Given the description of an element on the screen output the (x, y) to click on. 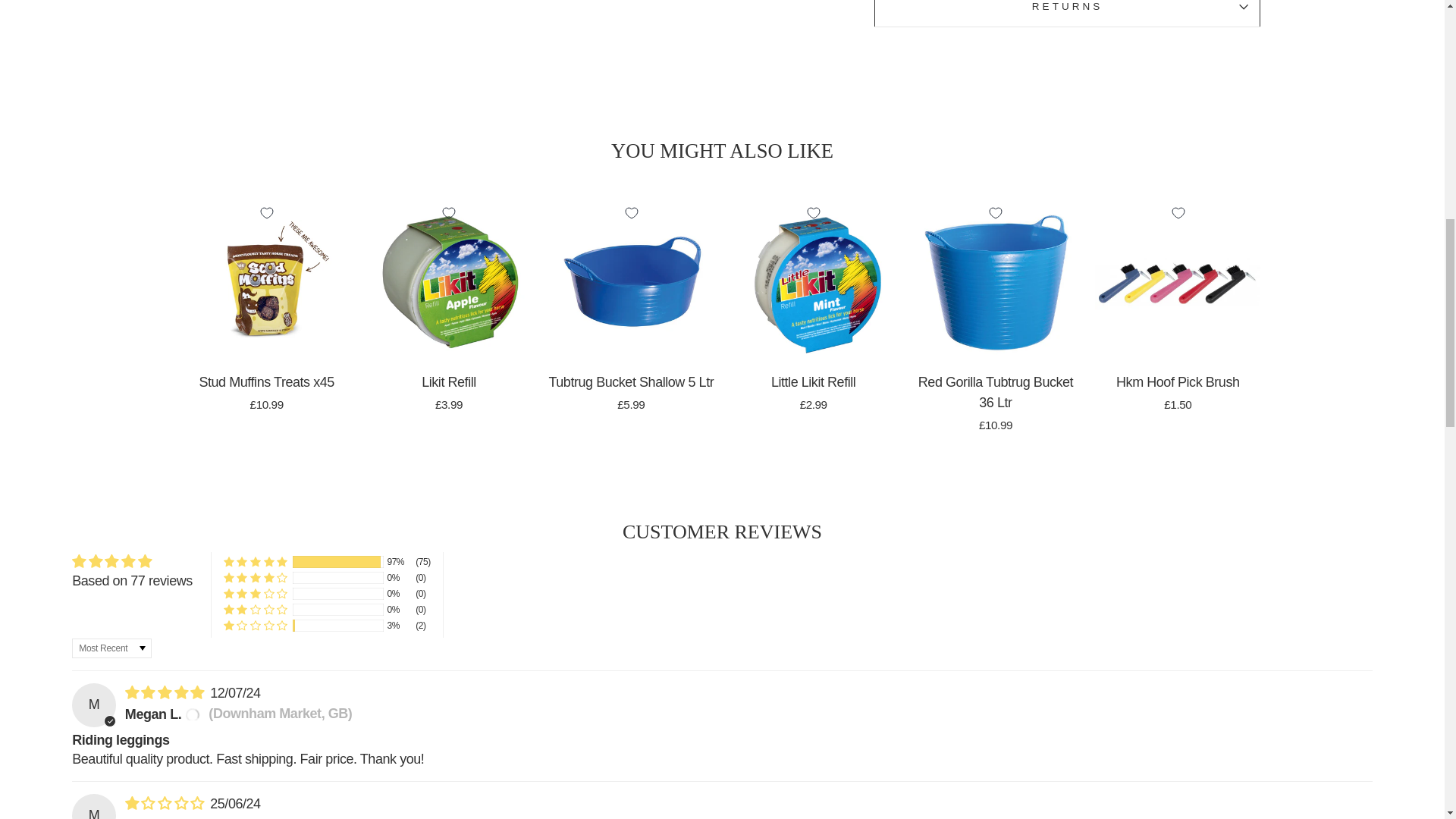
Add to Wishlist (813, 212)
Add to Wishlist (1177, 212)
Add to Wishlist (995, 212)
Add to Wishlist (449, 212)
Add to Wishlist (266, 212)
Add to Wishlist (631, 212)
